Given the description of an element on the screen output the (x, y) to click on. 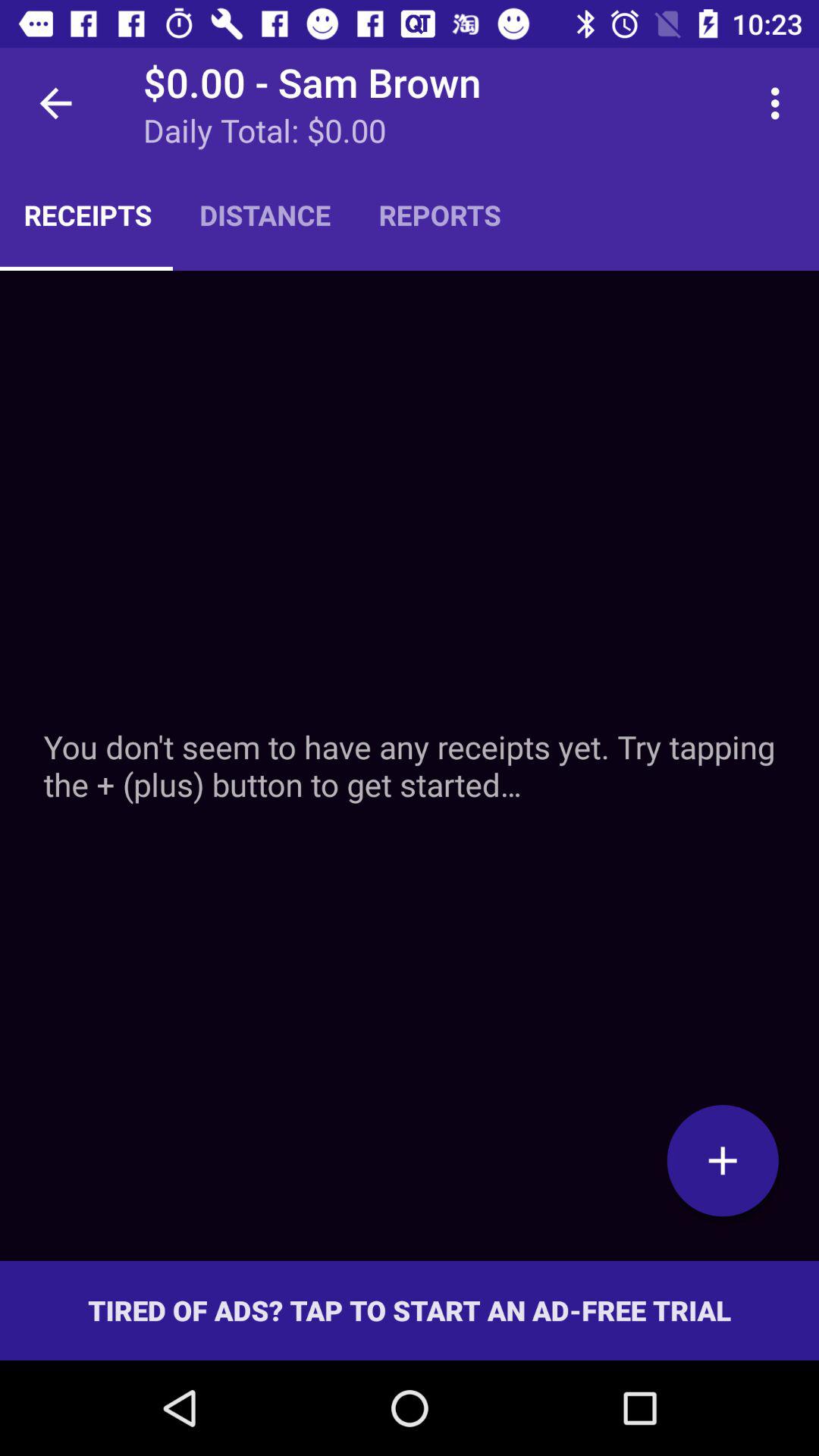
press icon below the receipts (409, 765)
